Given the description of an element on the screen output the (x, y) to click on. 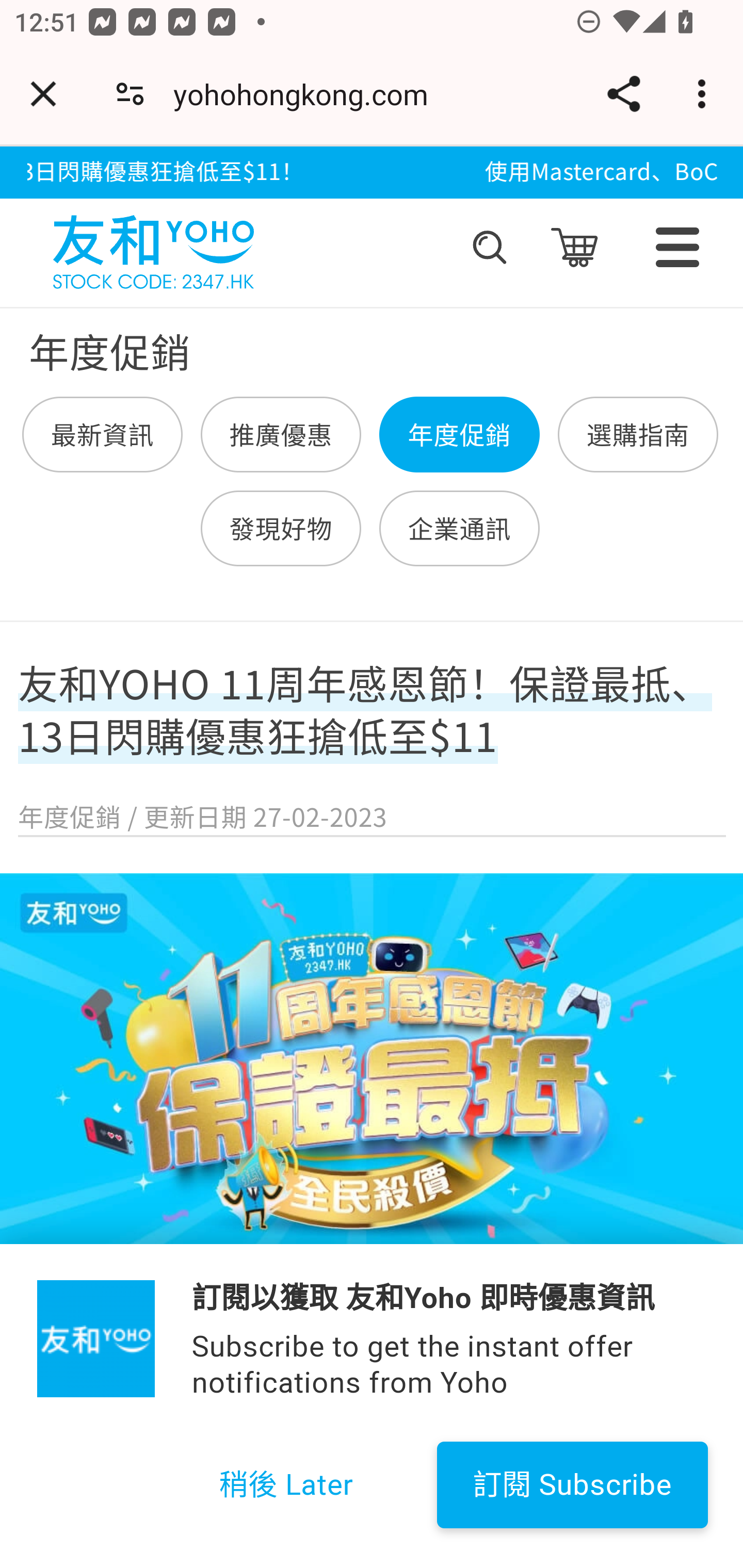
Close tab (43, 93)
Share (623, 93)
Customize and control Google Chrome (705, 93)
Connection is secure (129, 93)
yohohongkong.com (307, 93)
友和 YOHO (153, 247)
最新資訊 (102, 435)
推廣優惠 (280, 435)
年度促銷 (458, 435)
選購指南 (637, 435)
發現好物 (280, 528)
企業通訊 (458, 528)
